Given the description of an element on the screen output the (x, y) to click on. 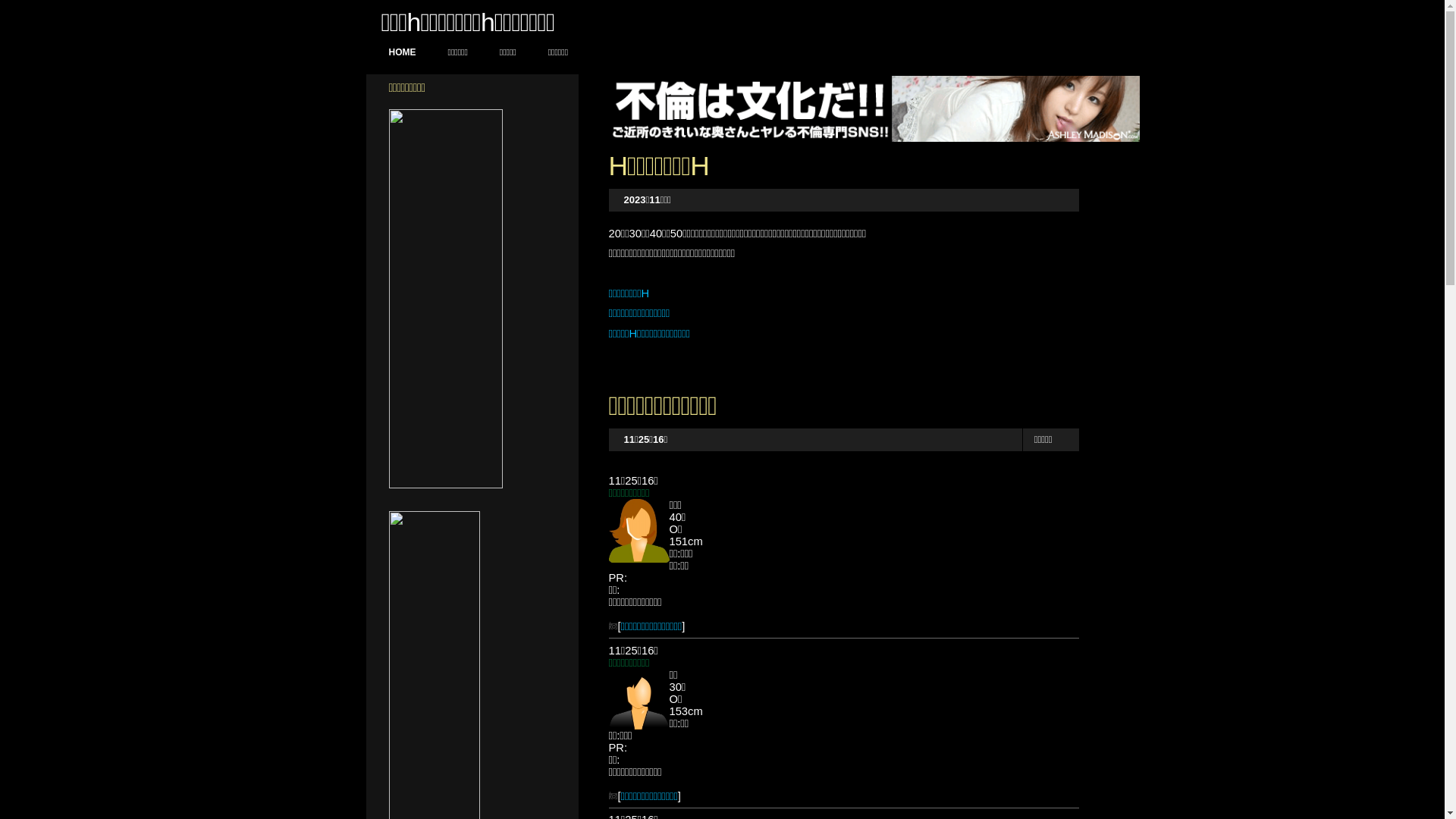
HOME Element type: text (401, 52)
